Given the description of an element on the screen output the (x, y) to click on. 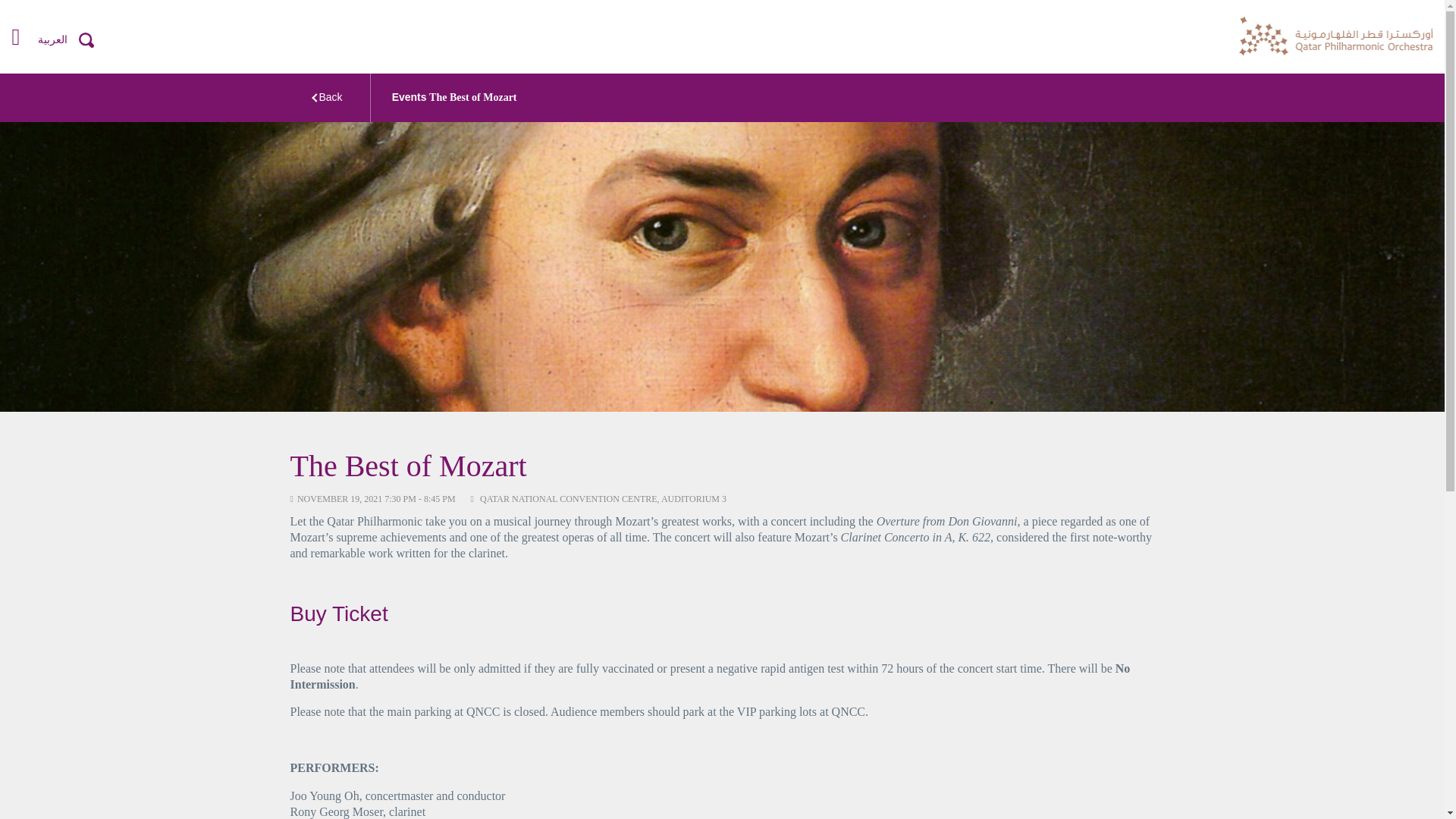
Events (408, 96)
Buy Ticket (338, 613)
Back (330, 96)
